Given the description of an element on the screen output the (x, y) to click on. 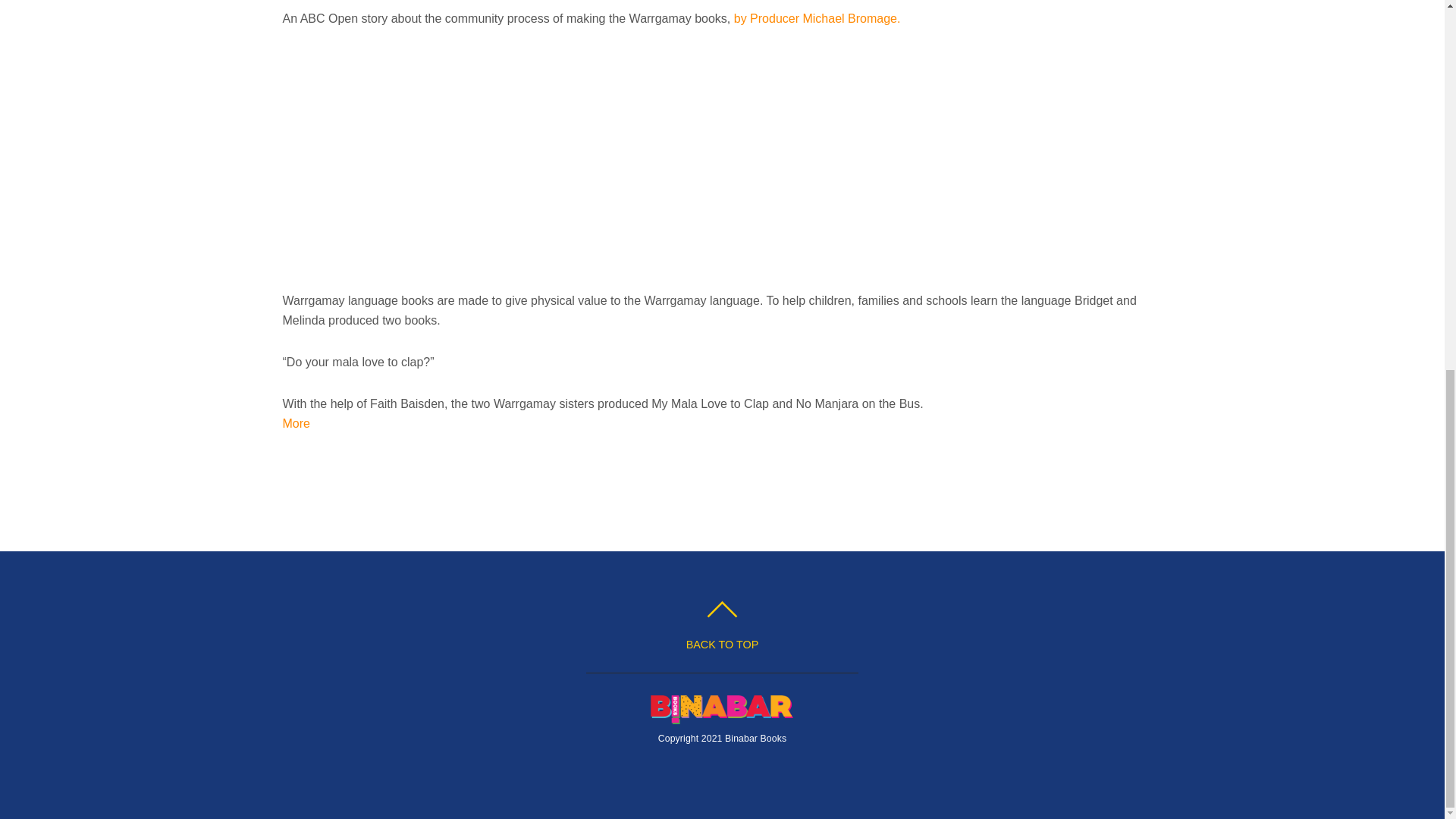
by Producer Michael Bromage. (817, 18)
ABC Open  (817, 18)
BACK TO TOP (721, 626)
More (295, 422)
